Given the description of an element on the screen output the (x, y) to click on. 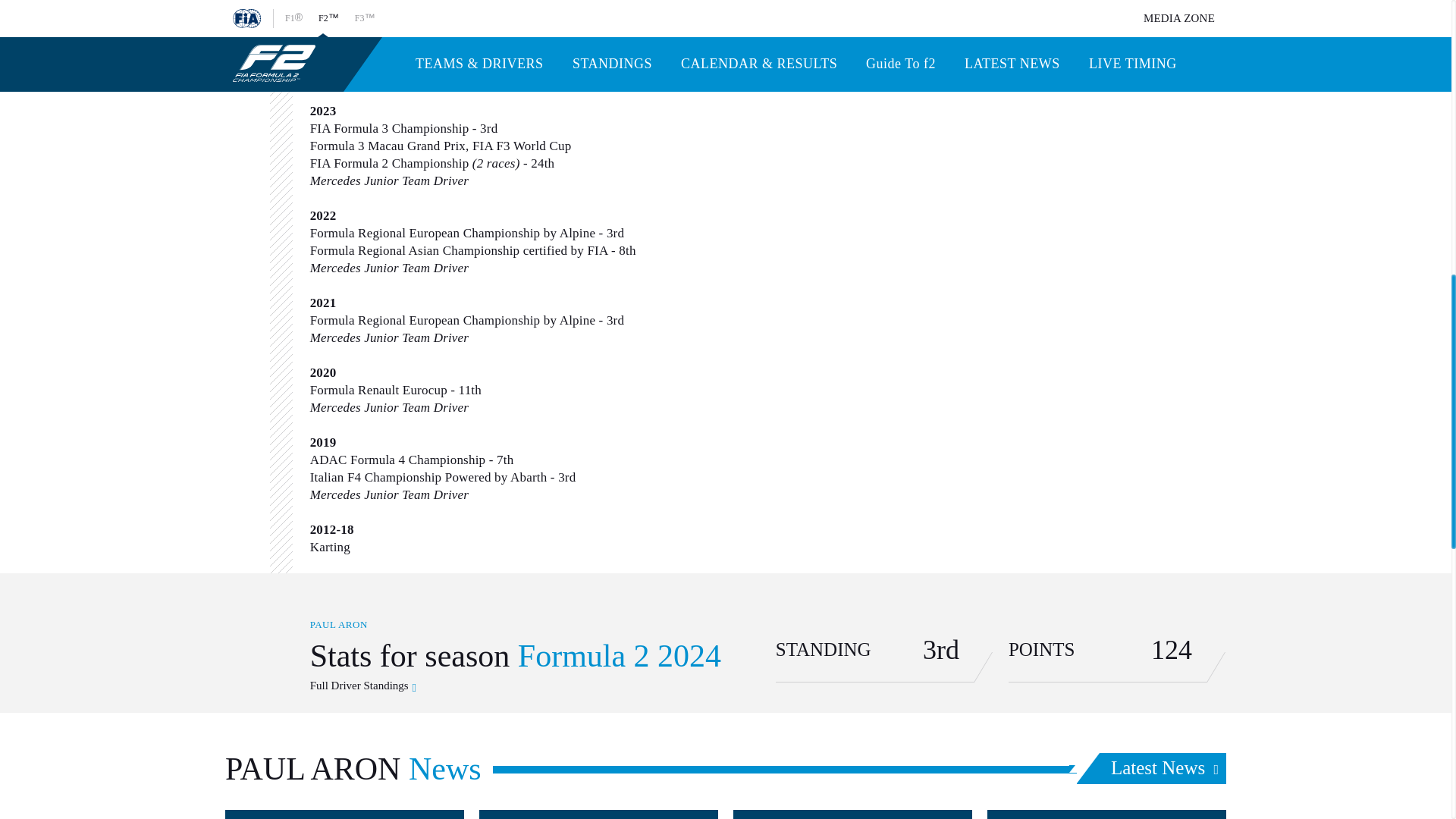
Latest News (1106, 814)
Full Driver Standings (1151, 767)
